Given the description of an element on the screen output the (x, y) to click on. 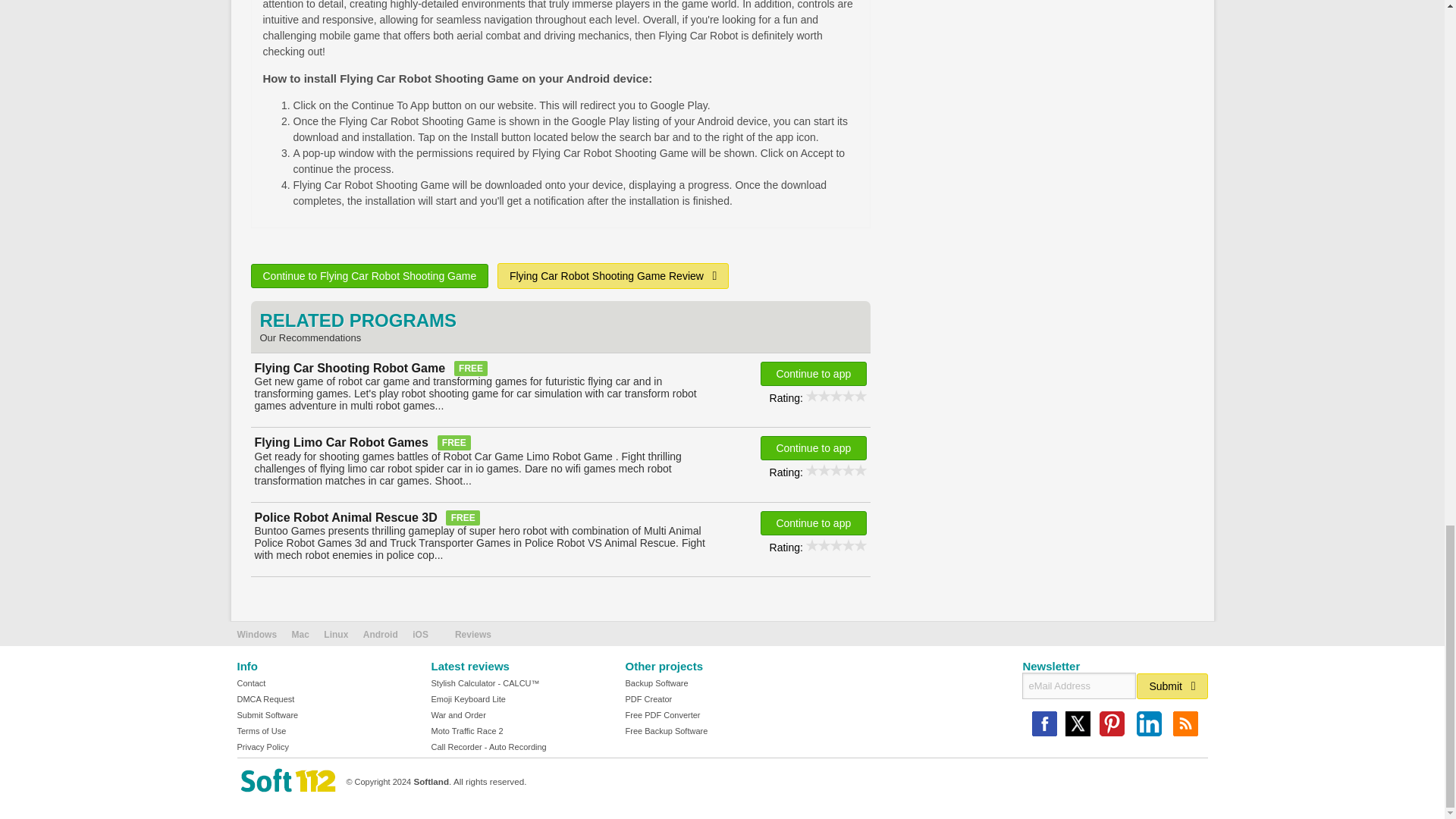
Flying Car Robot Shooting Game Review   (613, 275)
Continue to app (813, 523)
Continue to app (813, 373)
Continue to Flying Car Robot Shooting Game (368, 275)
Continue to app (813, 447)
